Given the description of an element on the screen output the (x, y) to click on. 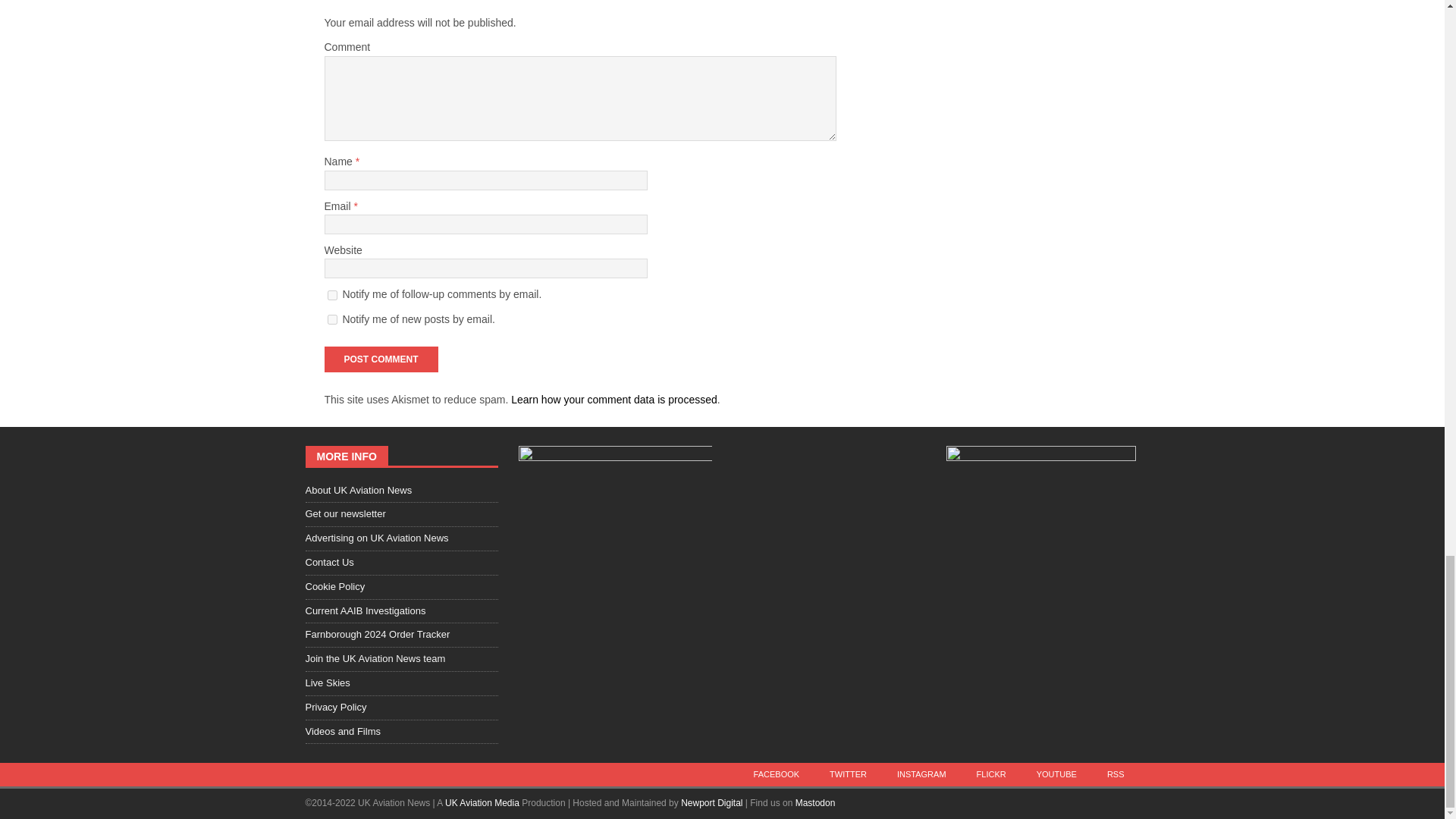
subscribe (332, 295)
subscribe (332, 319)
Post Comment (381, 359)
